Given the description of an element on the screen output the (x, y) to click on. 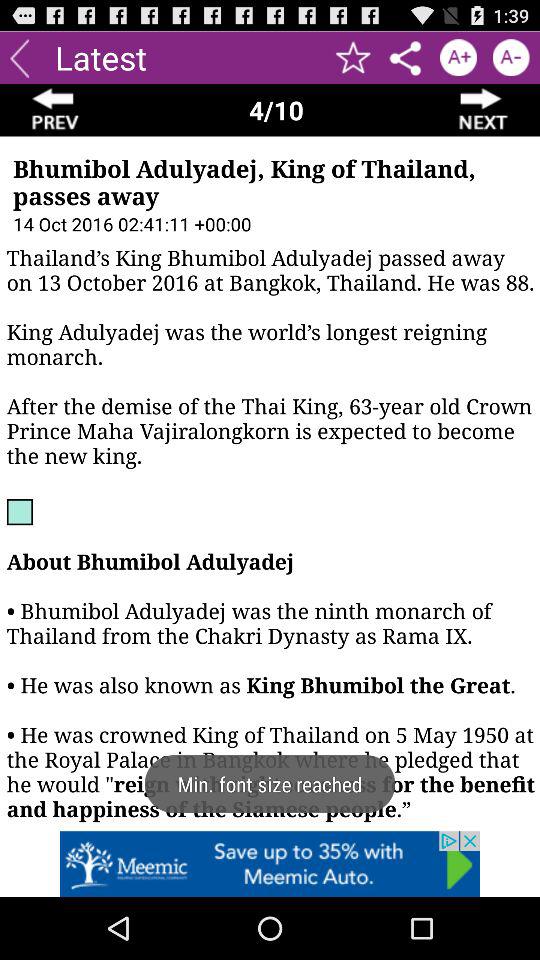
advertisement page (270, 864)
